Given the description of an element on the screen output the (x, y) to click on. 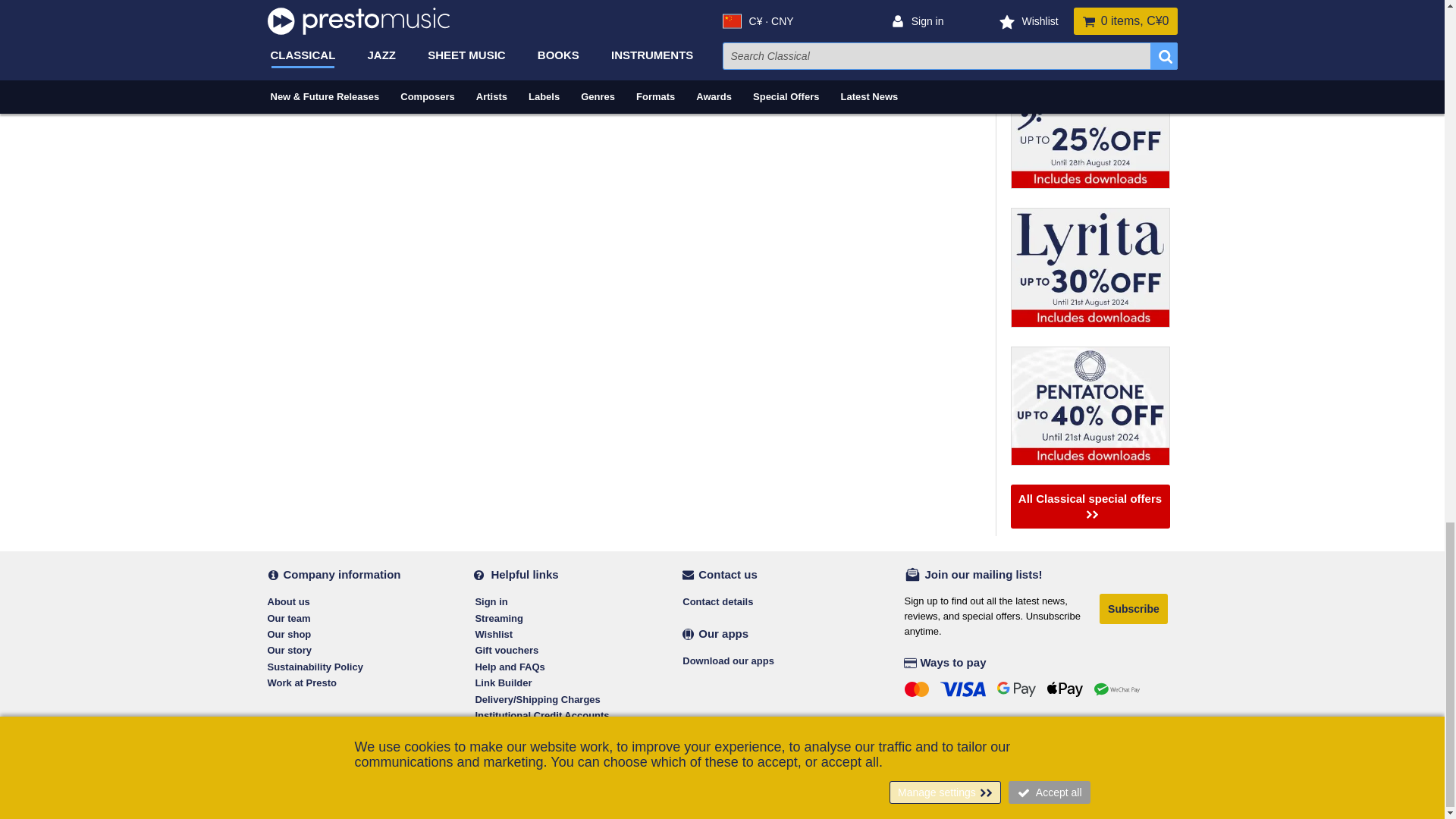
Follow us on Instagram (342, 740)
Subscribe to our YouTube channel (373, 740)
Follow us on Twitter (312, 740)
Follow us on Facebook (281, 740)
